Given the description of an element on the screen output the (x, y) to click on. 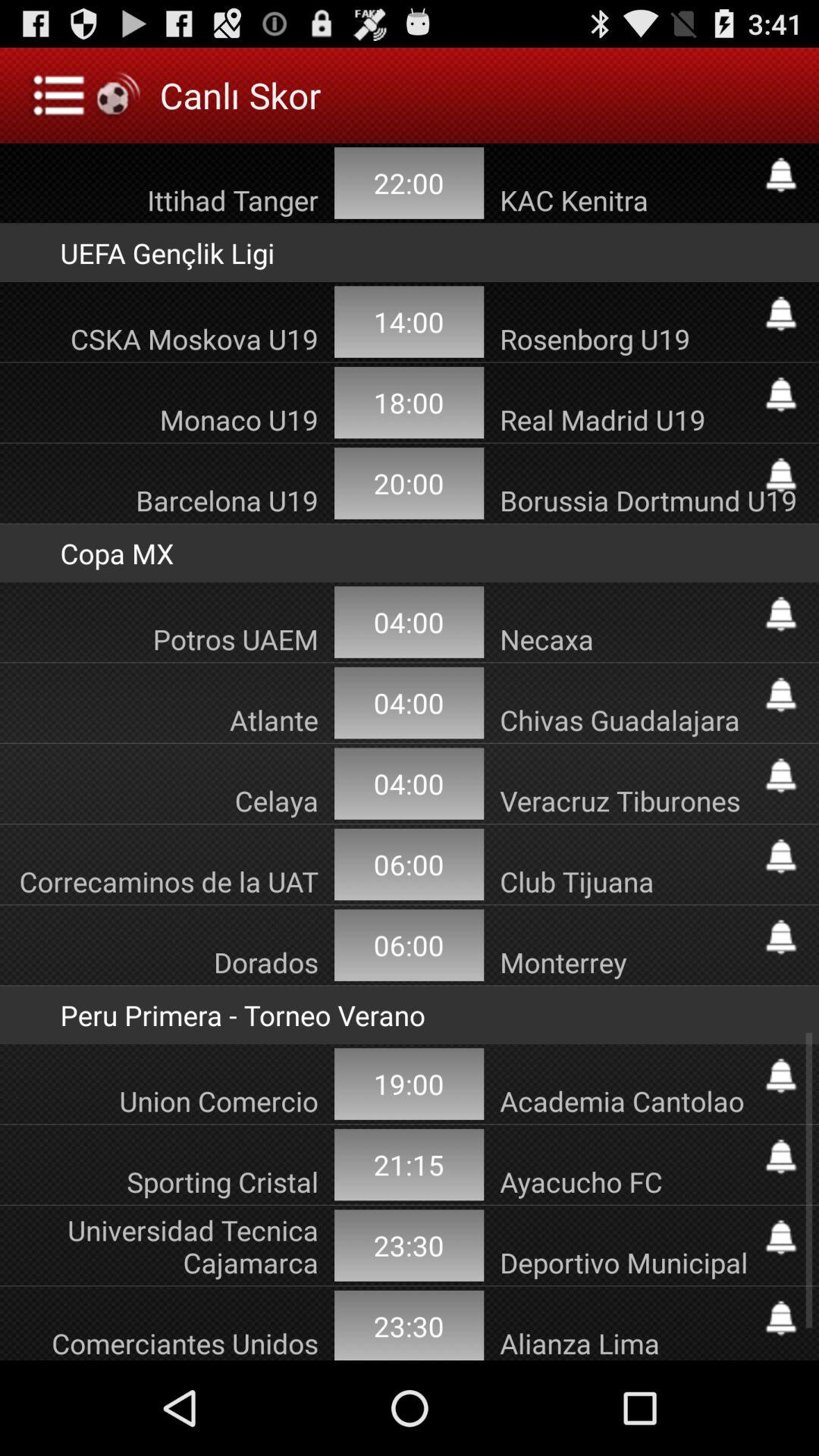
shows bell icon (780, 775)
